Given the description of an element on the screen output the (x, y) to click on. 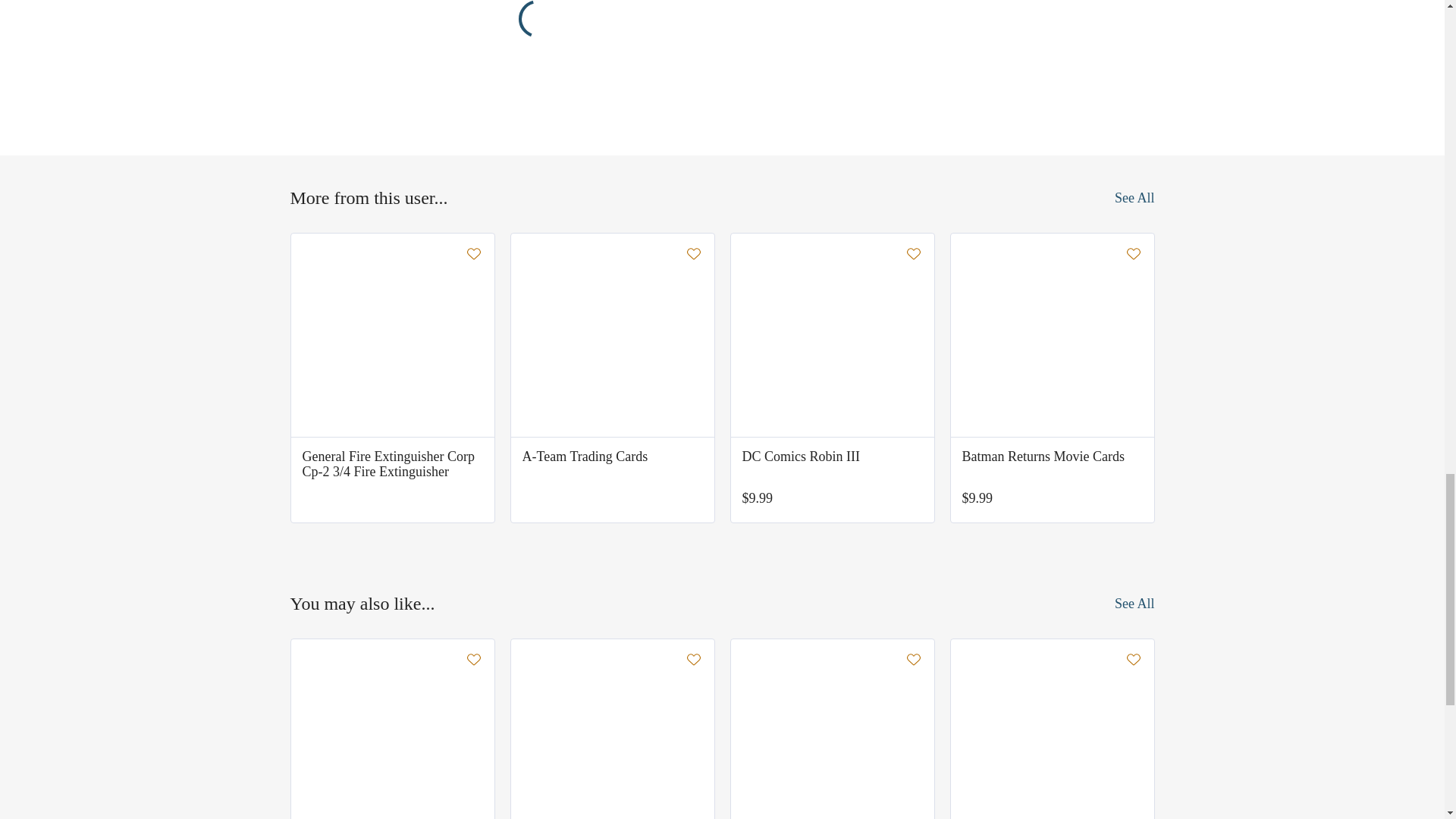
See All (1134, 197)
DC Comics Robin III (831, 456)
A-Team Trading Cards (611, 456)
